Given the description of an element on the screen output the (x, y) to click on. 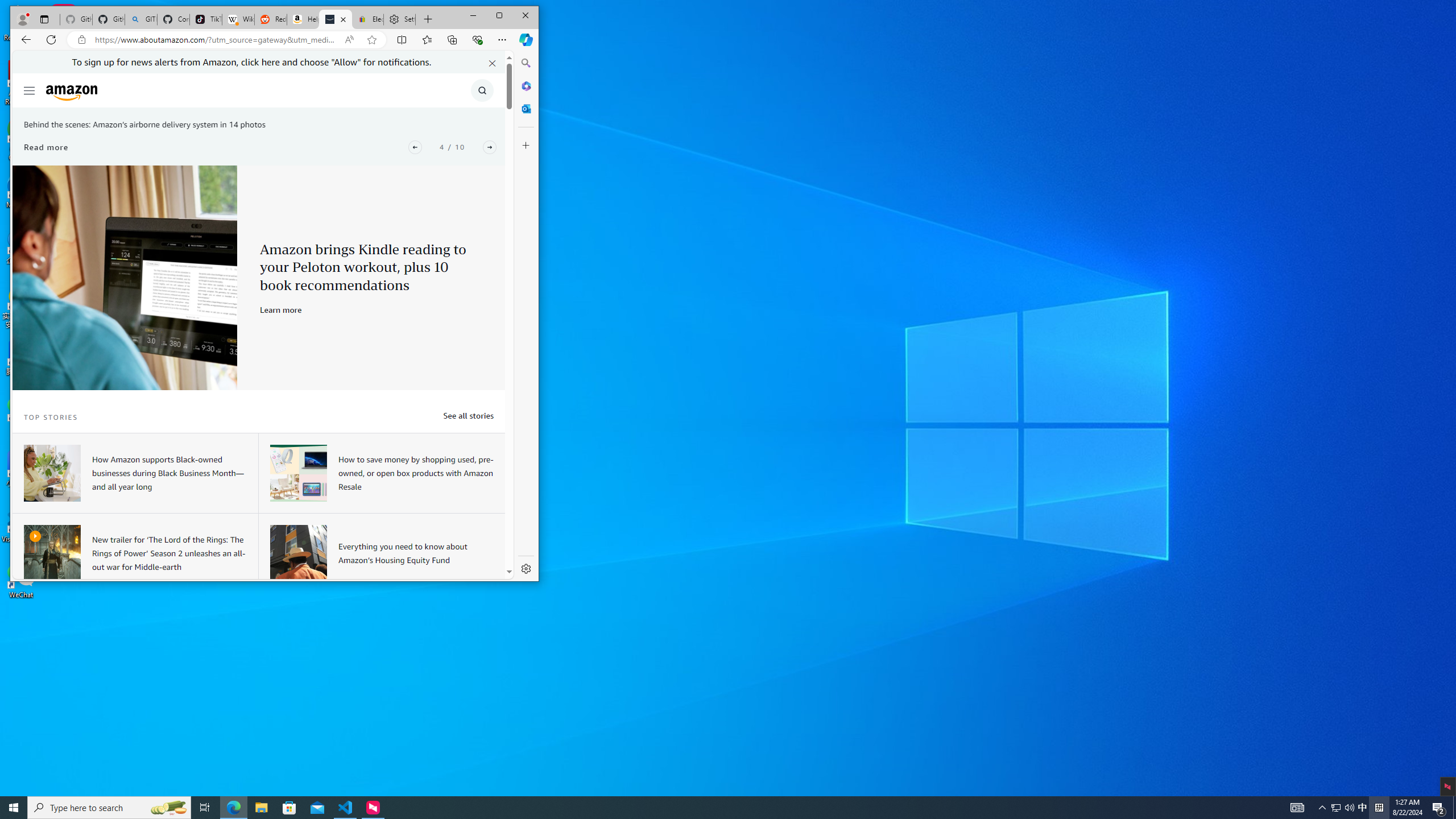
Search (525, 63)
Tab actions menu (43, 19)
Close (525, 15)
A woman sitting at a desk working on a laptop device. (51, 472)
Copilot (Ctrl+Shift+.) (525, 39)
Running applications (707, 807)
App bar (274, 39)
Close Outlook pane (525, 108)
Close tab (342, 19)
Read aloud this page (Ctrl+Shift+U) (349, 39)
Refresh (50, 39)
Read more (45, 146)
